Given the description of an element on the screen output the (x, y) to click on. 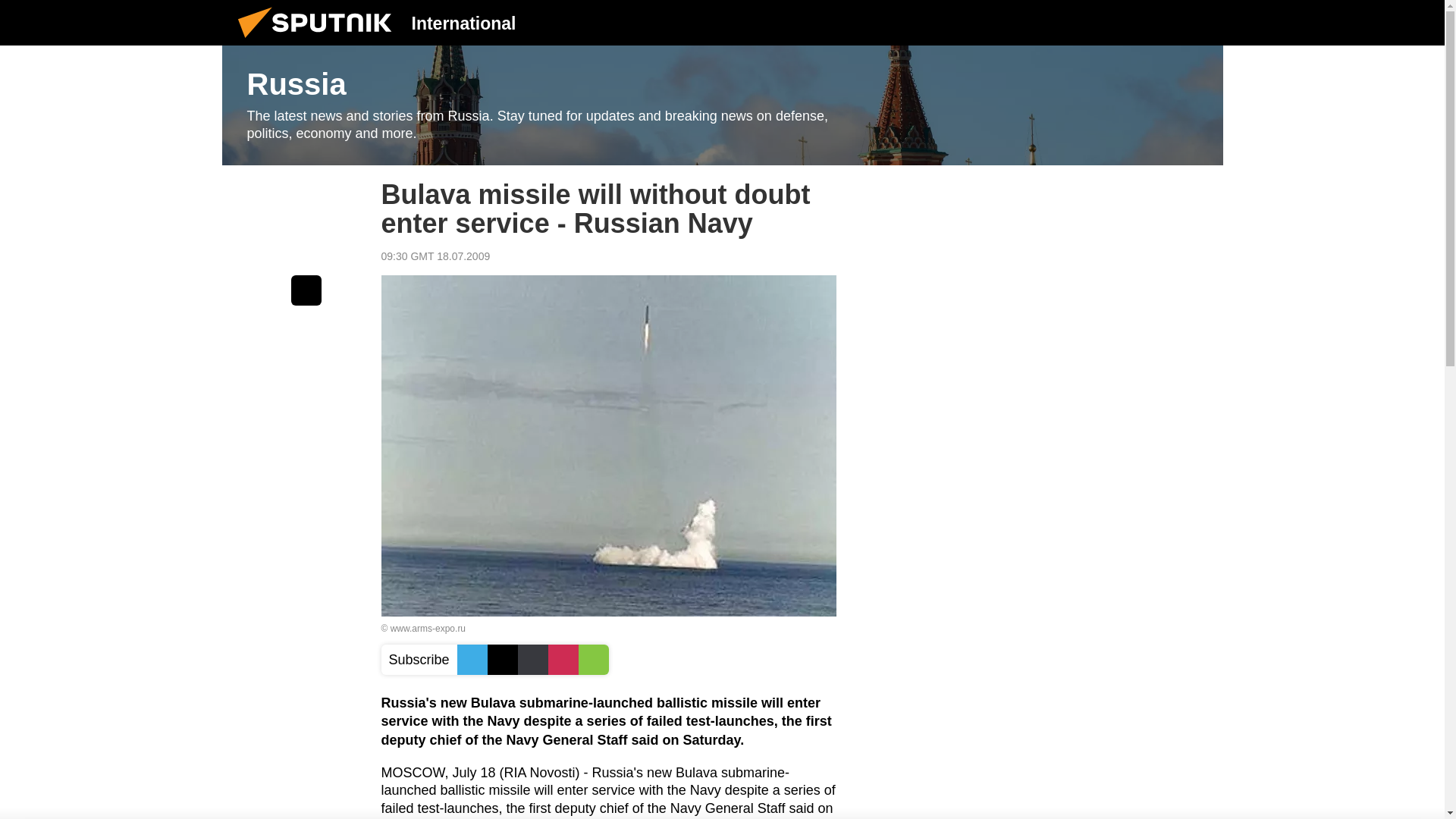
Authorization (1123, 22)
Sputnik International (319, 41)
Chats (1199, 22)
Russia (722, 105)
